Given the description of an element on the screen output the (x, y) to click on. 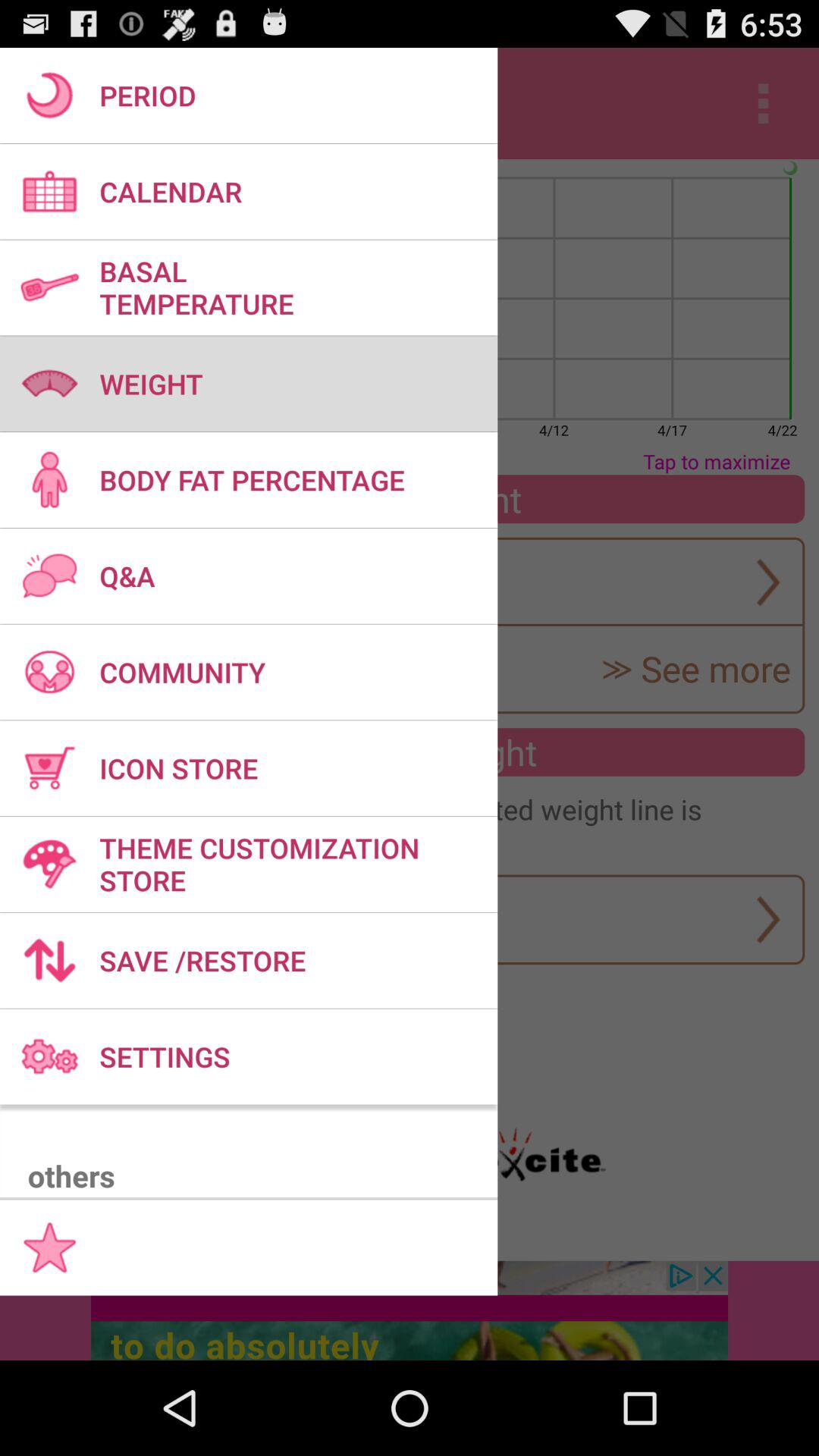
click on more options symbol (763, 103)
